Given the description of an element on the screen output the (x, y) to click on. 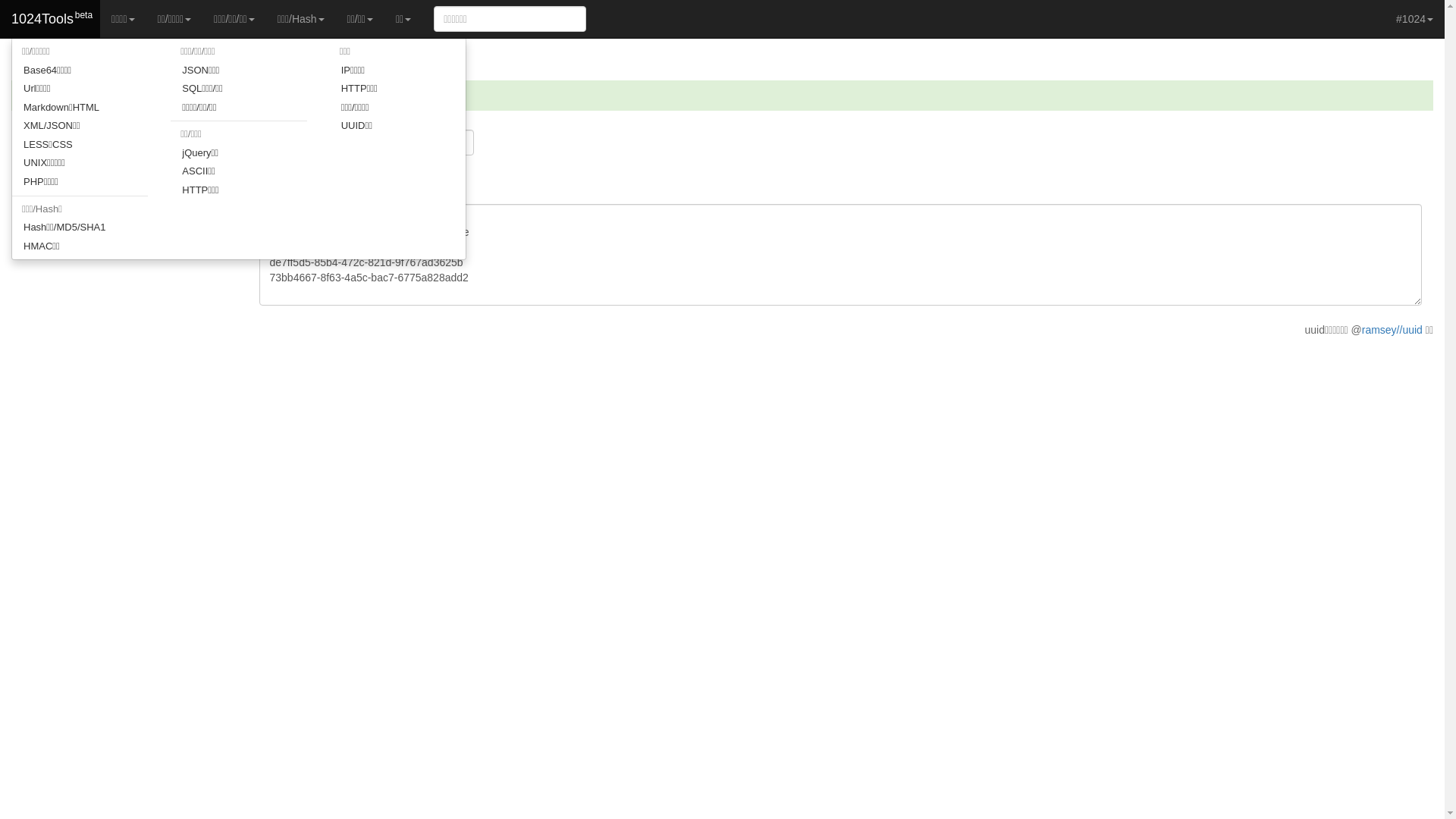
#1024 Element type: text (1414, 18)
1024Tools Element type: text (50, 18)
ramsey//uuid Element type: text (1391, 329)
